Given the description of an element on the screen output the (x, y) to click on. 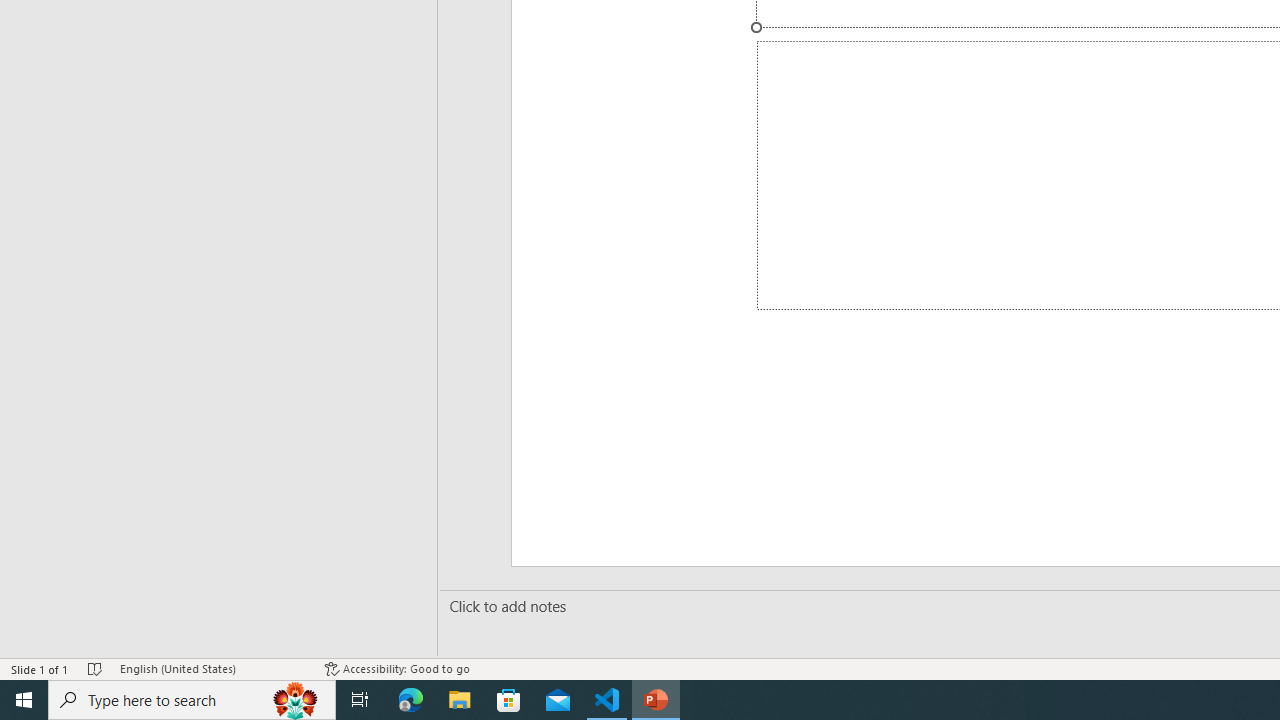
Accessibility Checker Accessibility: Good to go (397, 668)
